Given the description of an element on the screen output the (x, y) to click on. 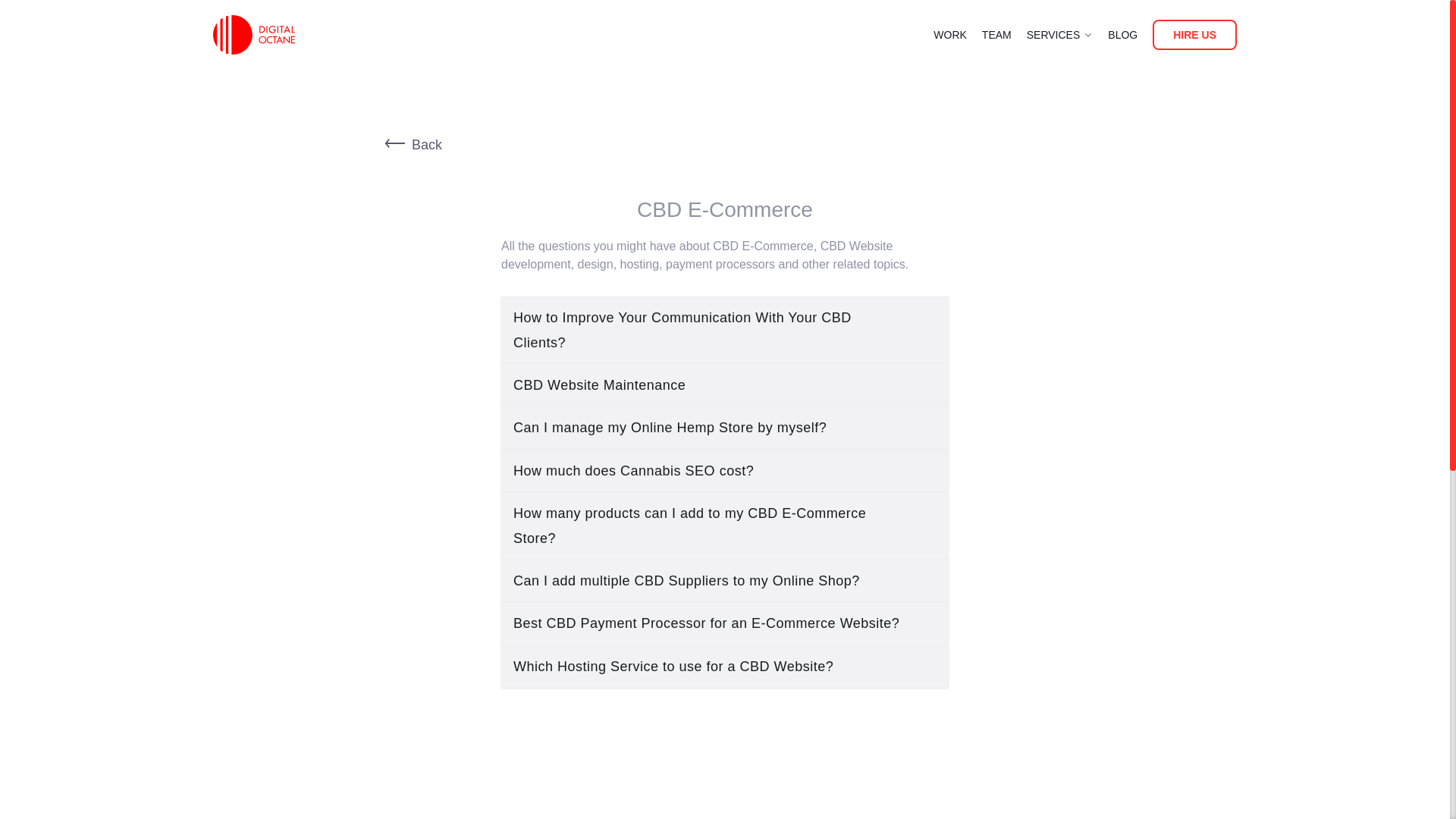
Best CBD Payment Processor for an E-Commerce Website? (724, 622)
CBD Website Maintenance (724, 384)
Can I manage my Online Hemp Store by myself? (724, 427)
How to Improve Your Communication With Your CBD Clients? (724, 329)
How many products can I add to my CBD E-Commerce Store? (724, 525)
Which Hosting Service to use for a CBD Website? (724, 666)
HIRE US (1194, 34)
How much does Cannabis SEO cost? (724, 470)
WORK (949, 34)
SERVICES (1053, 34)
